Given the description of an element on the screen output the (x, y) to click on. 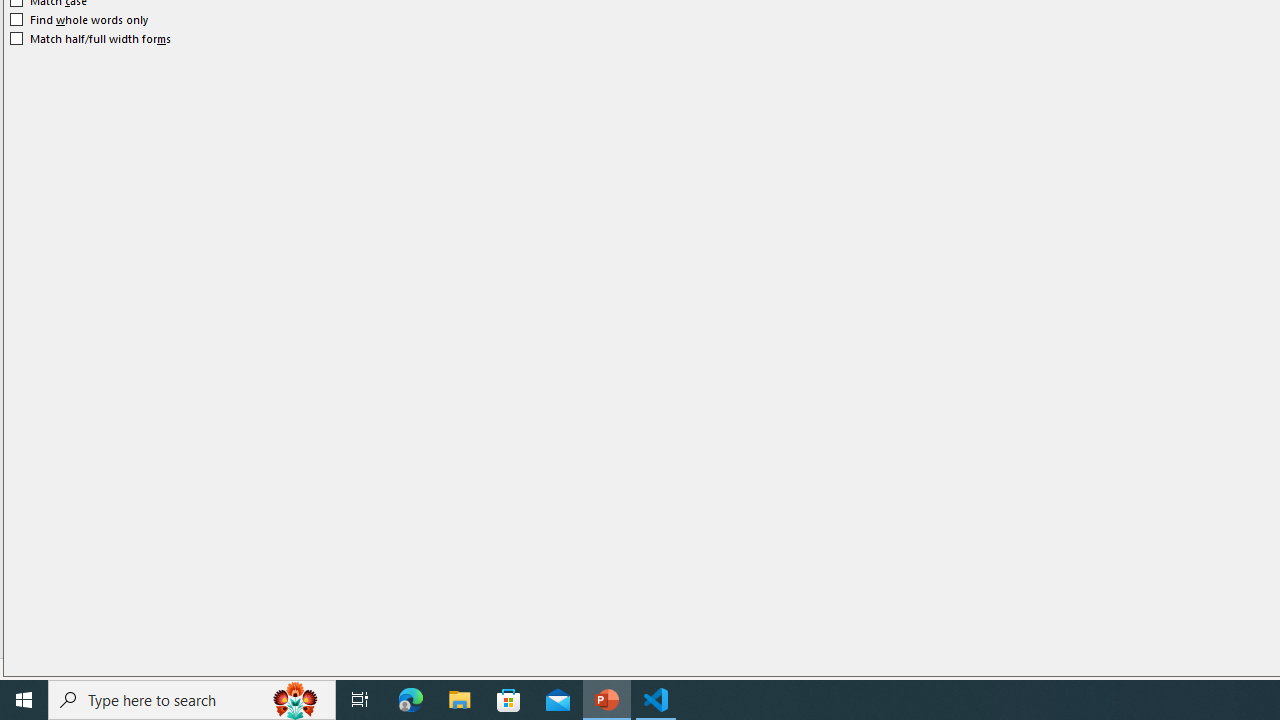
Match half/full width forms (91, 38)
Find whole words only (79, 20)
